Given the description of an element on the screen output the (x, y) to click on. 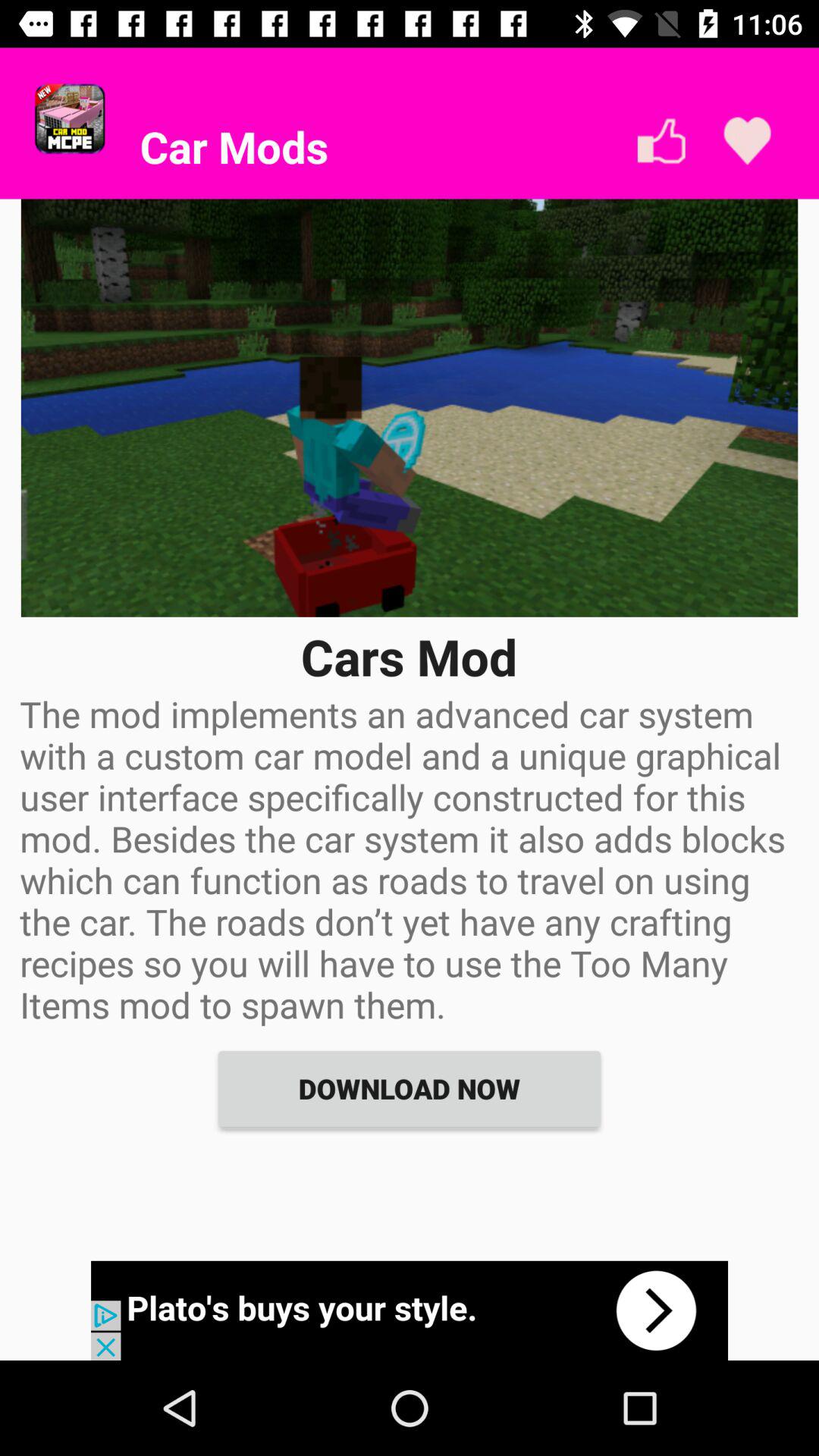
all the best (661, 140)
